Given the description of an element on the screen output the (x, y) to click on. 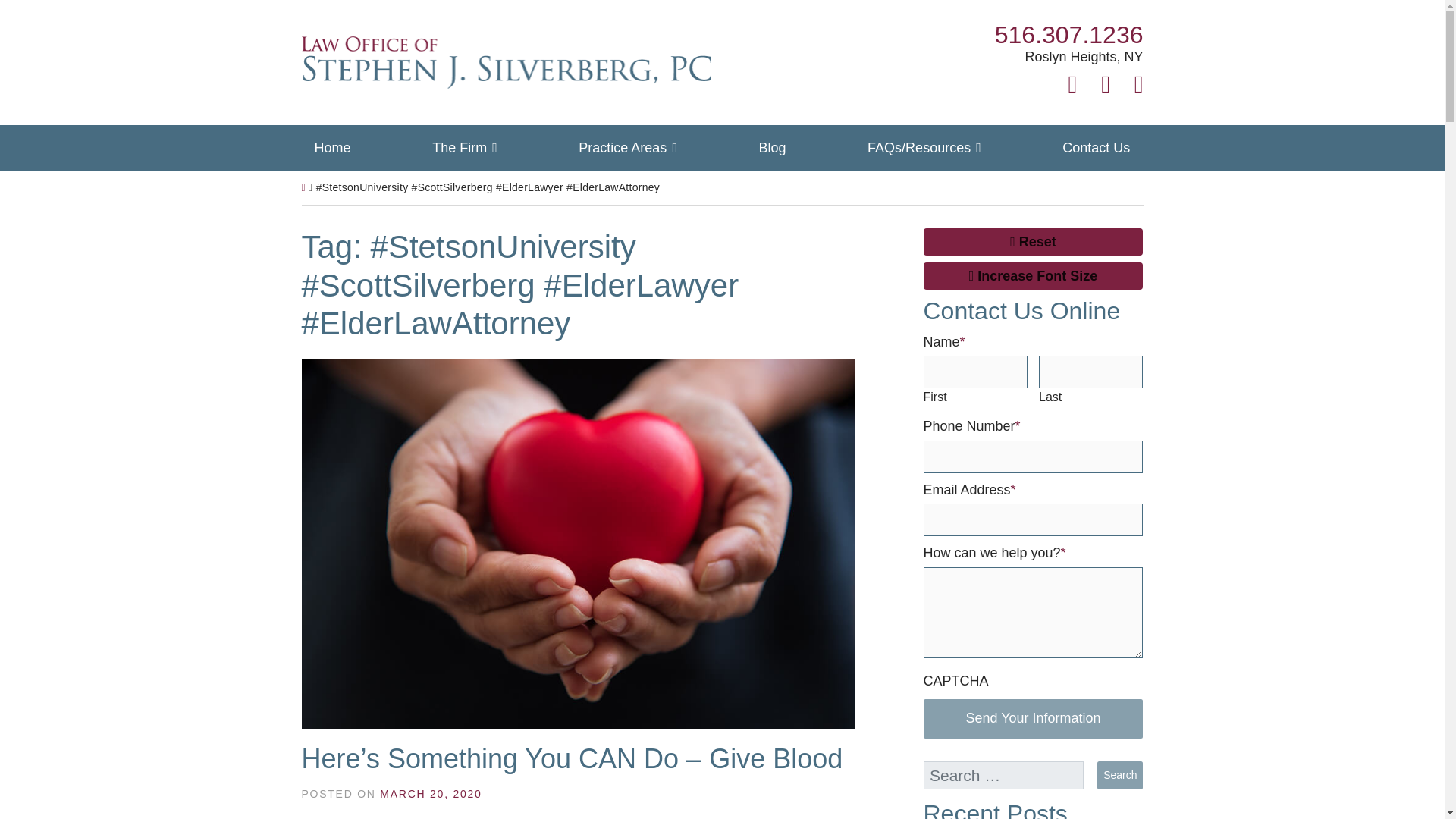
Practice Areas (628, 147)
Return home (506, 61)
Search (1119, 775)
Blog (771, 147)
Reset font size (1032, 241)
The Firm (1068, 34)
Home (465, 147)
MARCH 20, 2020 (332, 147)
Contact Us (430, 793)
